Given the description of an element on the screen output the (x, y) to click on. 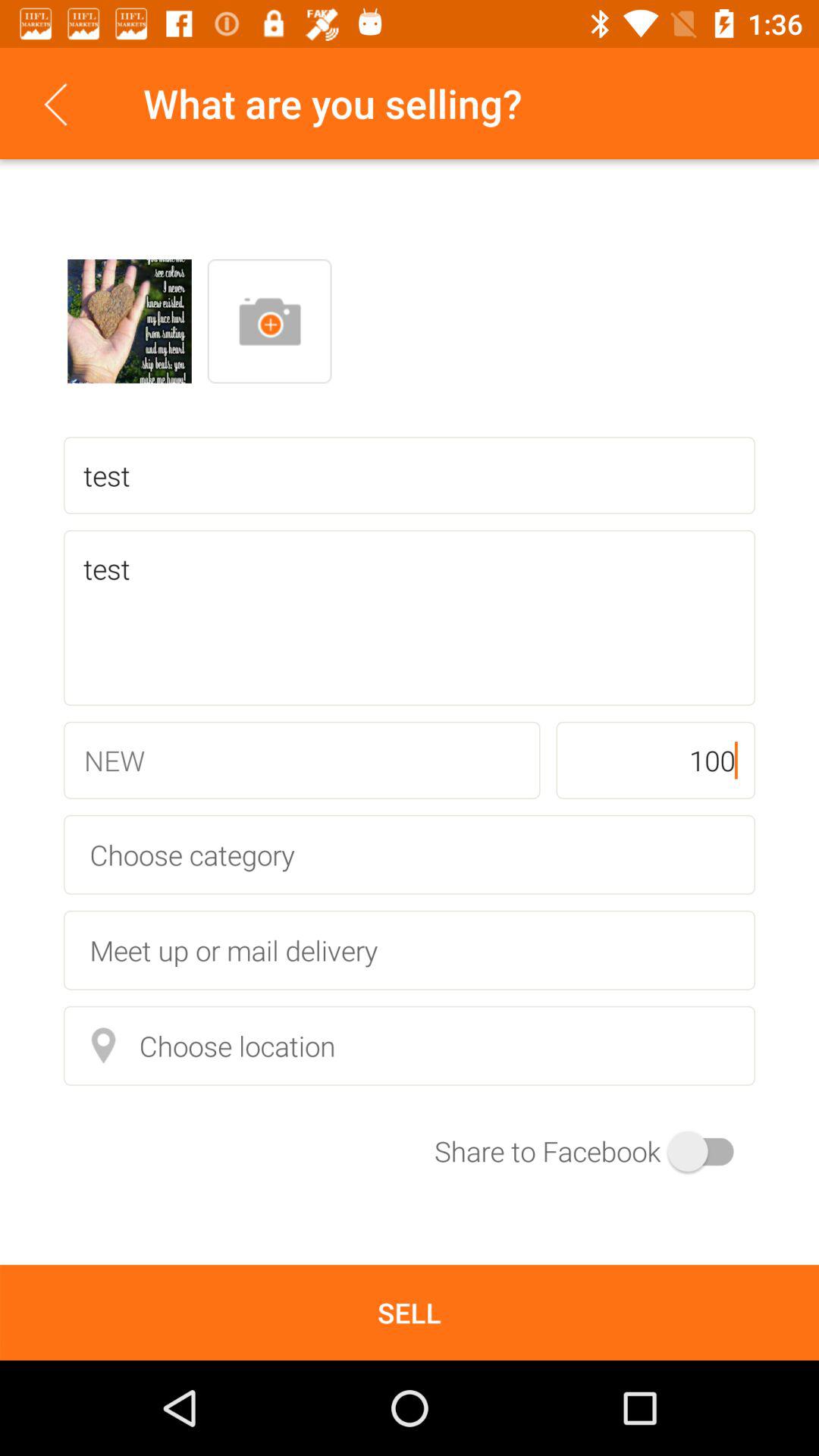
turn off the item below the meet up or item (409, 1045)
